Given the description of an element on the screen output the (x, y) to click on. 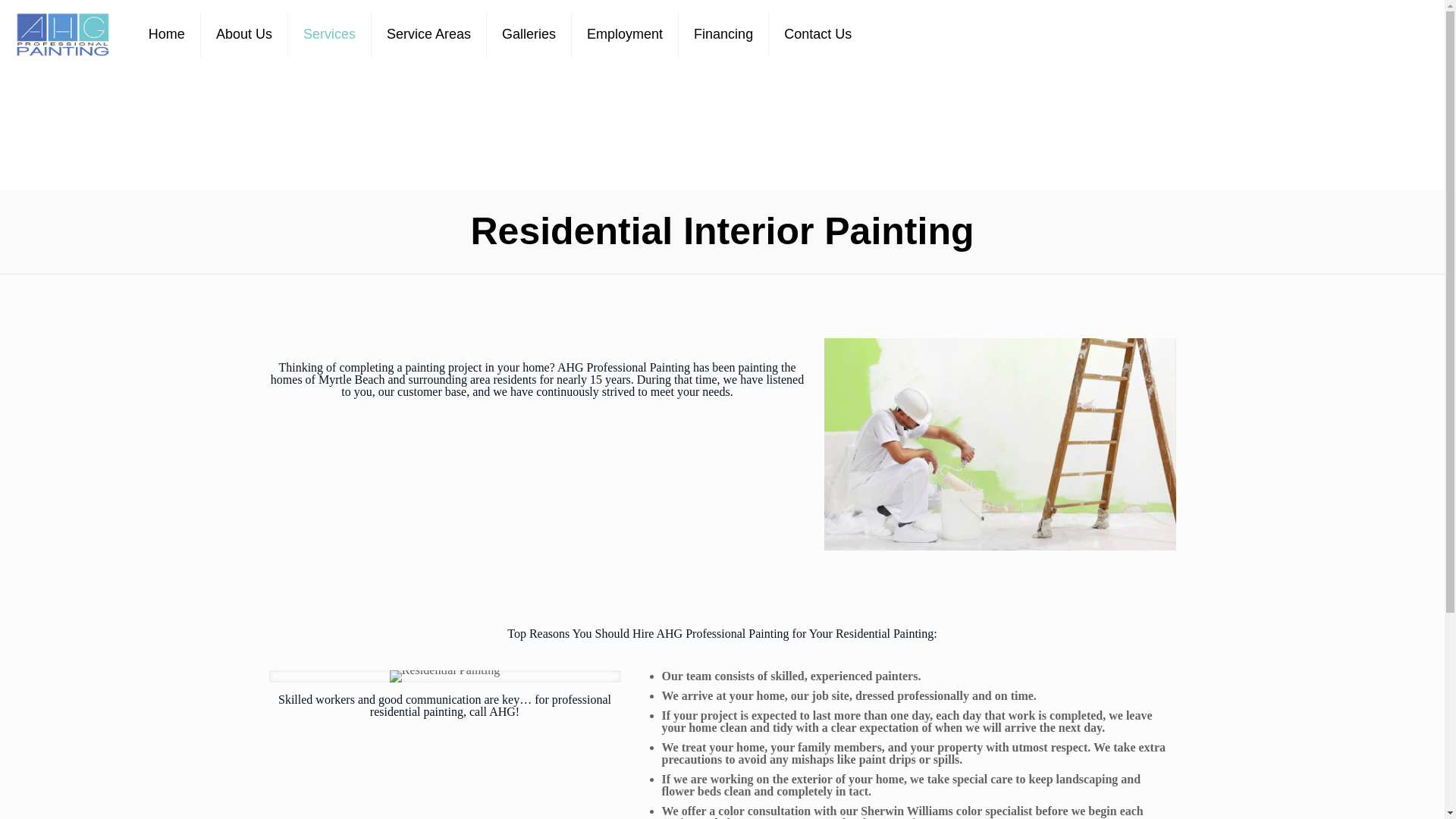
AHG Professional Painting Myrtle Beach (62, 33)
Services (329, 33)
About Us (244, 33)
Home (166, 33)
Contact Us (817, 33)
Employment (625, 33)
Galleries (529, 33)
Service Areas (428, 33)
Financing (723, 33)
